Given the description of an element on the screen output the (x, y) to click on. 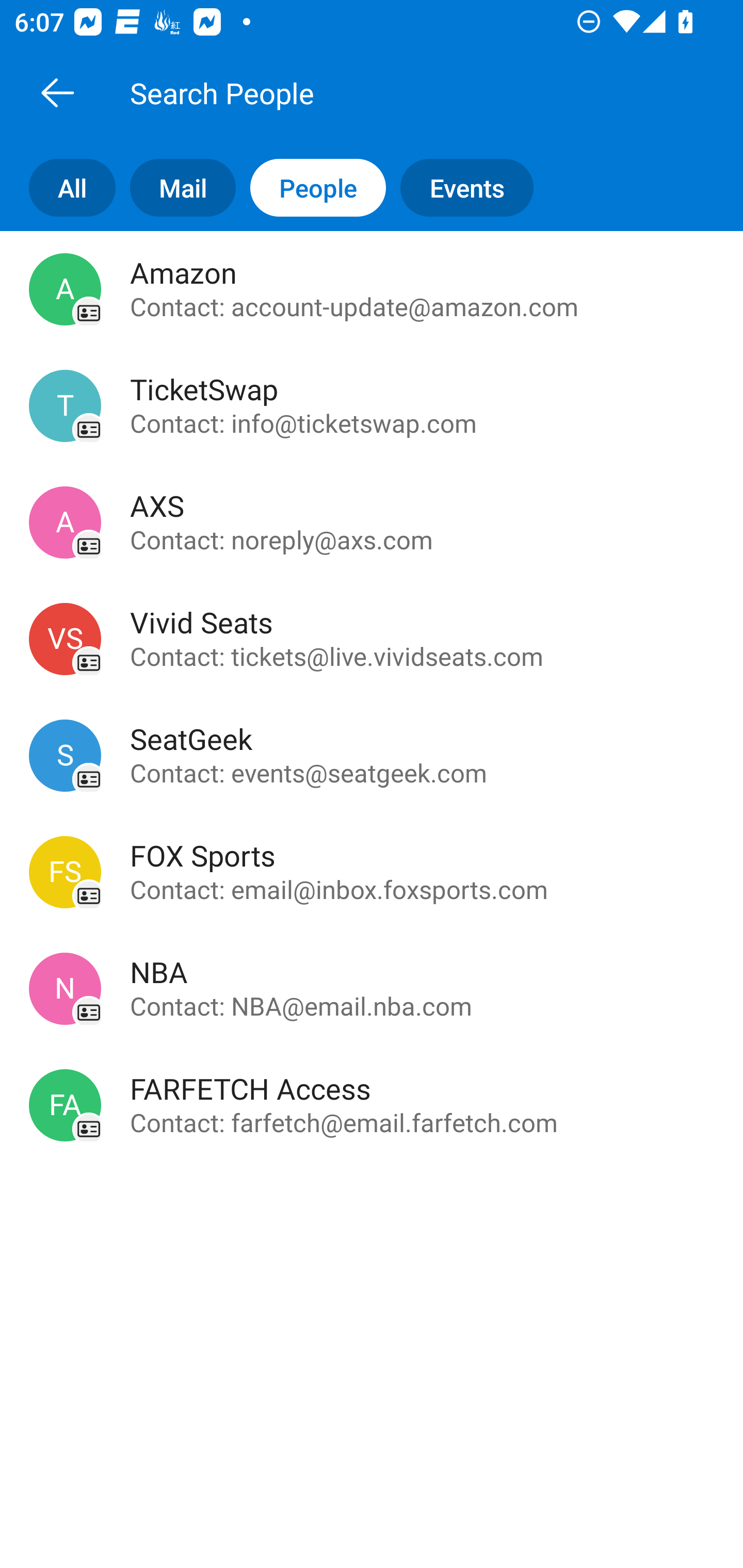
Back (57, 92)
Search People (394, 92)
All (57, 187)
Mail (175, 187)
Events (473, 187)
